Given the description of an element on the screen output the (x, y) to click on. 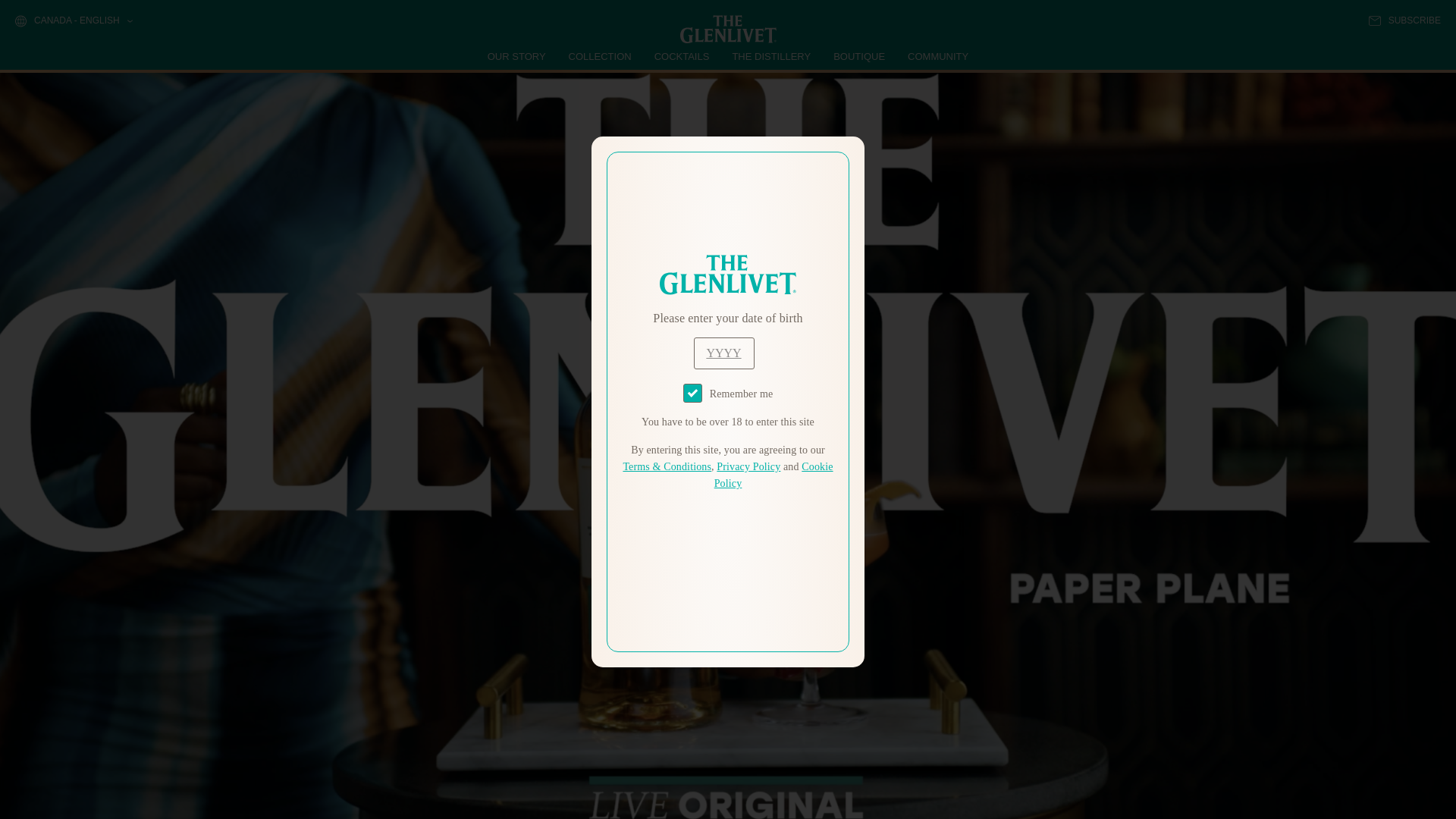
COCKTAILS (681, 56)
COMMUNITY (937, 56)
OUR STORY (516, 56)
Privacy Policy (748, 466)
Cookie Policy (773, 474)
SUBSCRIBE (1404, 20)
THE DISTILLERY (771, 56)
CANADA - ENGLISH (73, 21)
year (723, 353)
BOUTIQUE (858, 56)
COLLECTION (600, 56)
